Given the description of an element on the screen output the (x, y) to click on. 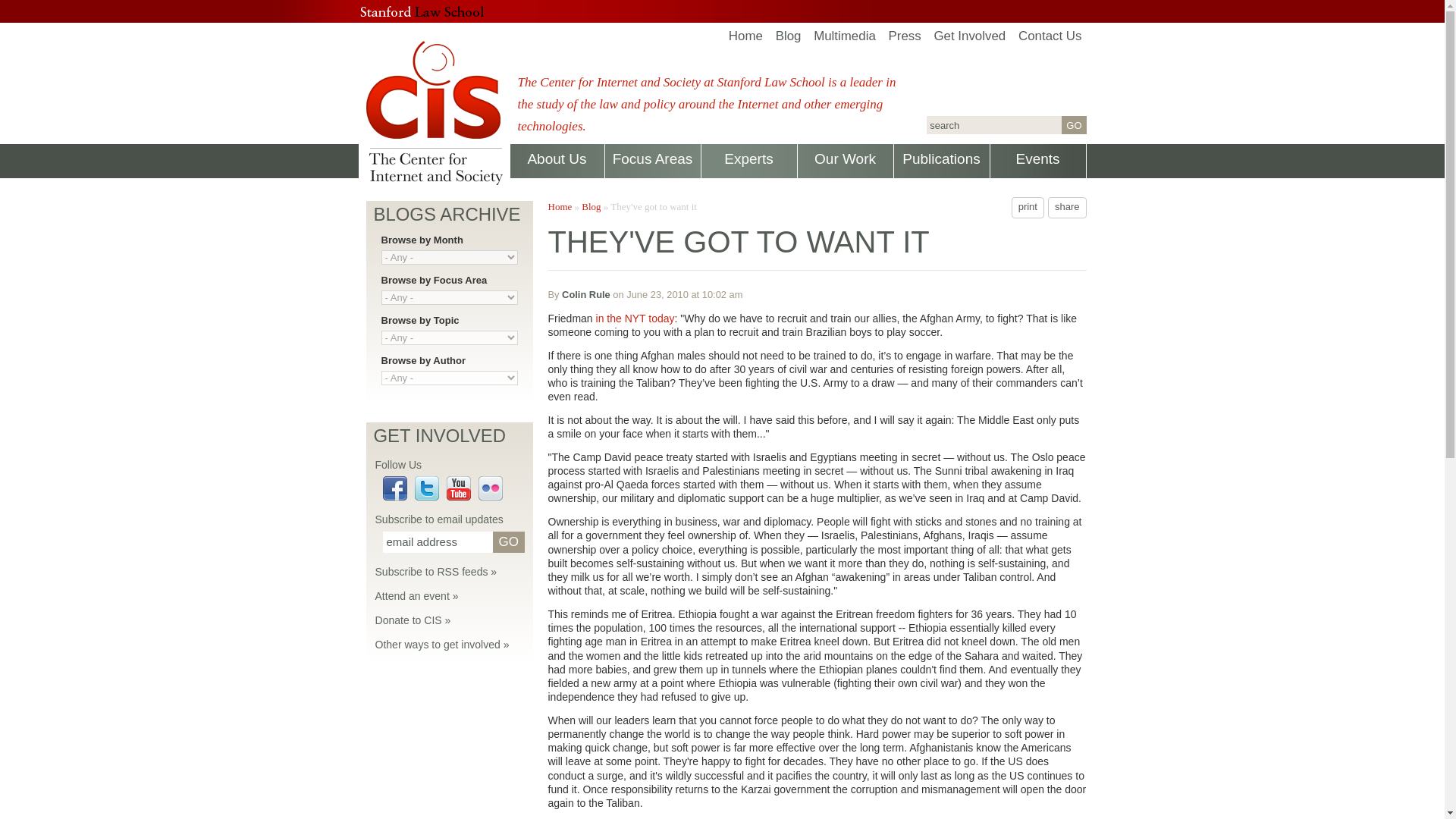
Stanford Law School (421, 10)
Contact Us (1049, 35)
Multimedia (844, 35)
Go (508, 541)
Go (1073, 125)
Home (433, 114)
Home (745, 35)
Return to CIS Homepage (745, 35)
Blog (789, 35)
Focus Areas (653, 161)
Go (1073, 125)
Get Involved (969, 35)
Press (904, 35)
View profile (586, 294)
Our Work (845, 161)
